Given the description of an element on the screen output the (x, y) to click on. 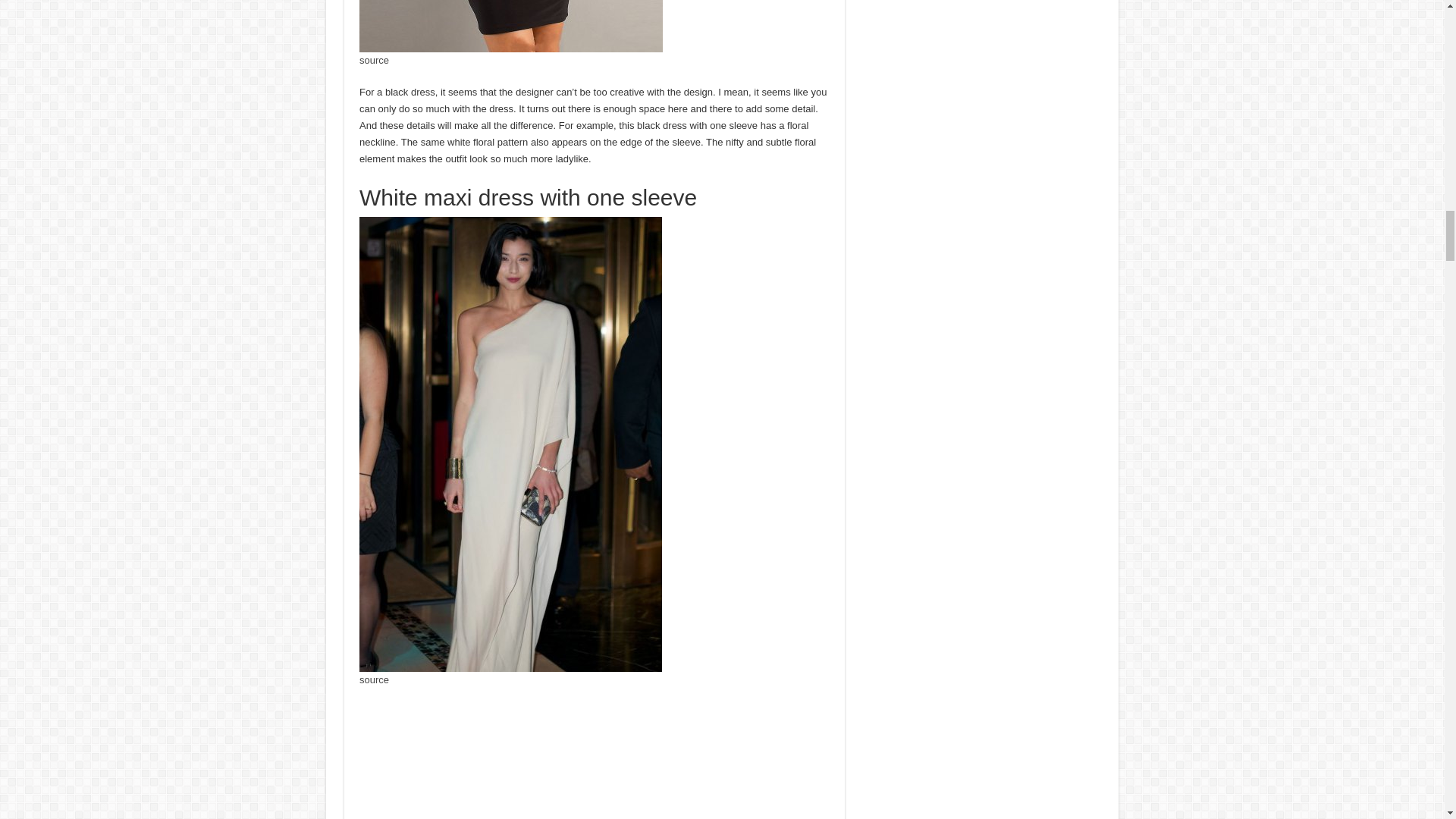
source (373, 679)
source (373, 60)
